Given the description of an element on the screen output the (x, y) to click on. 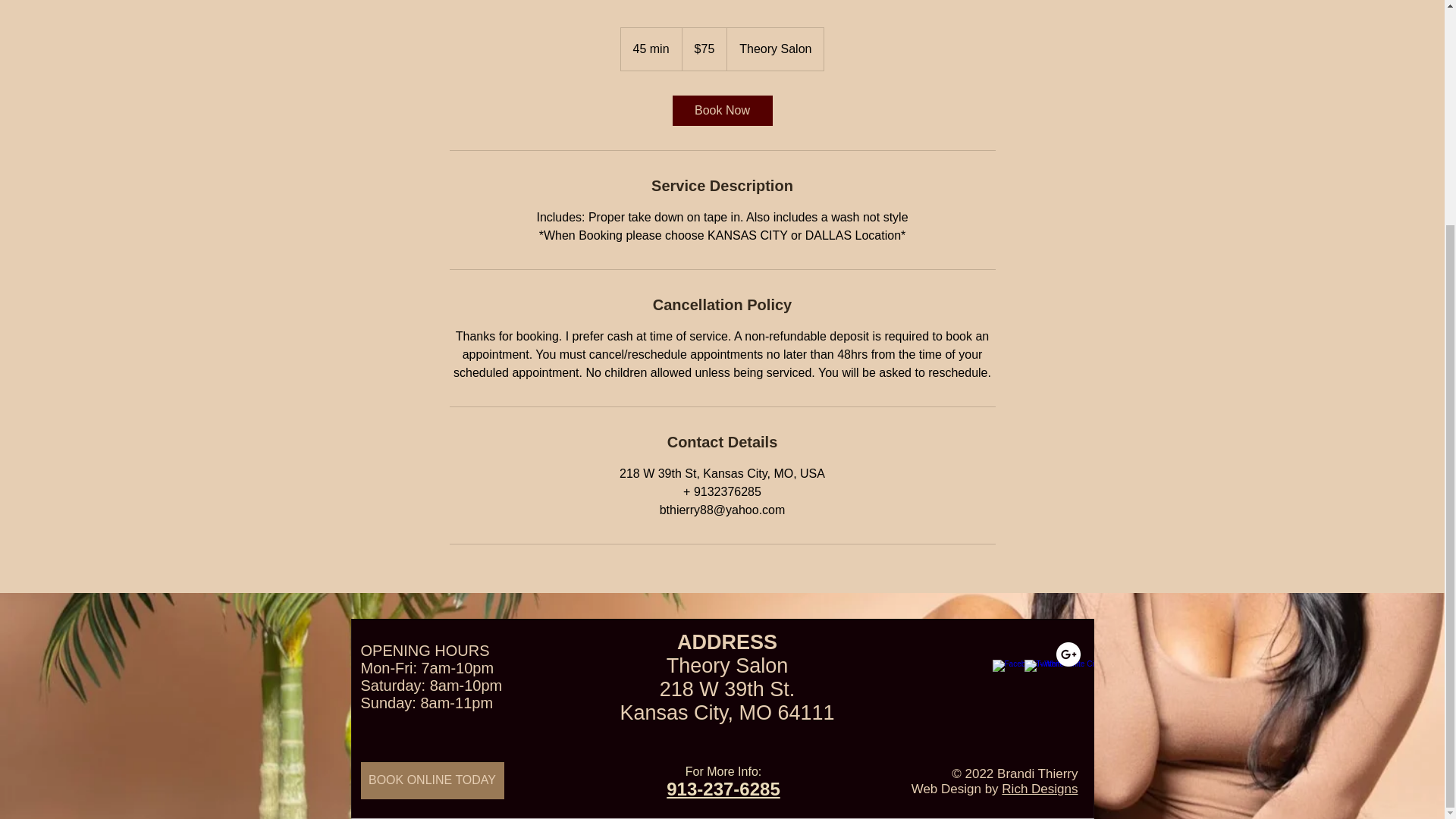
BOOK ONLINE TODAY (432, 780)
Book Now (721, 110)
Rich Designs (1039, 789)
913-237-6285 (722, 788)
